Given the description of an element on the screen output the (x, y) to click on. 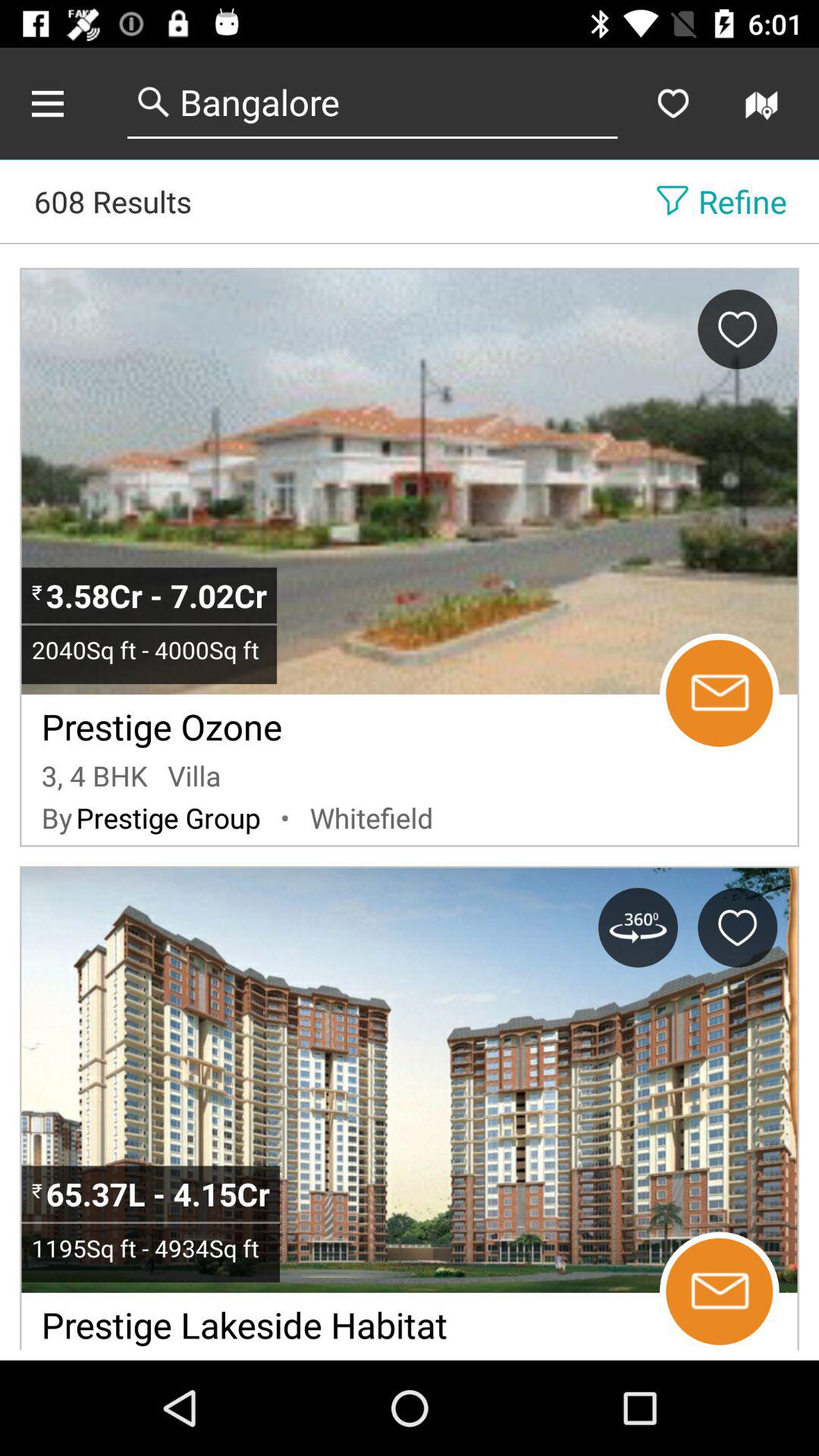
enter message box (719, 693)
